Given the description of an element on the screen output the (x, y) to click on. 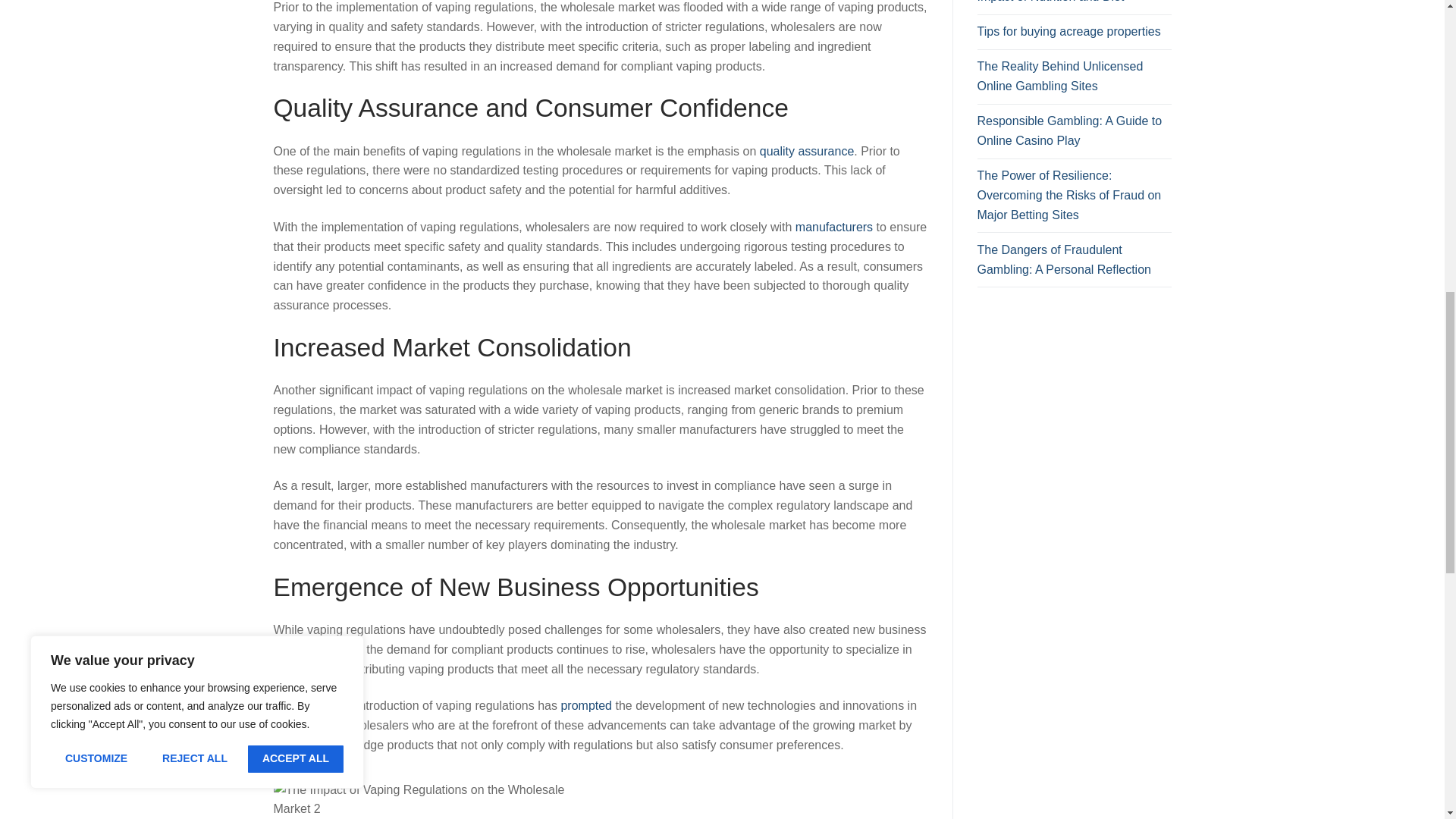
prompted (585, 705)
manufacturers (833, 226)
quality assurance (807, 150)
